Given the description of an element on the screen output the (x, y) to click on. 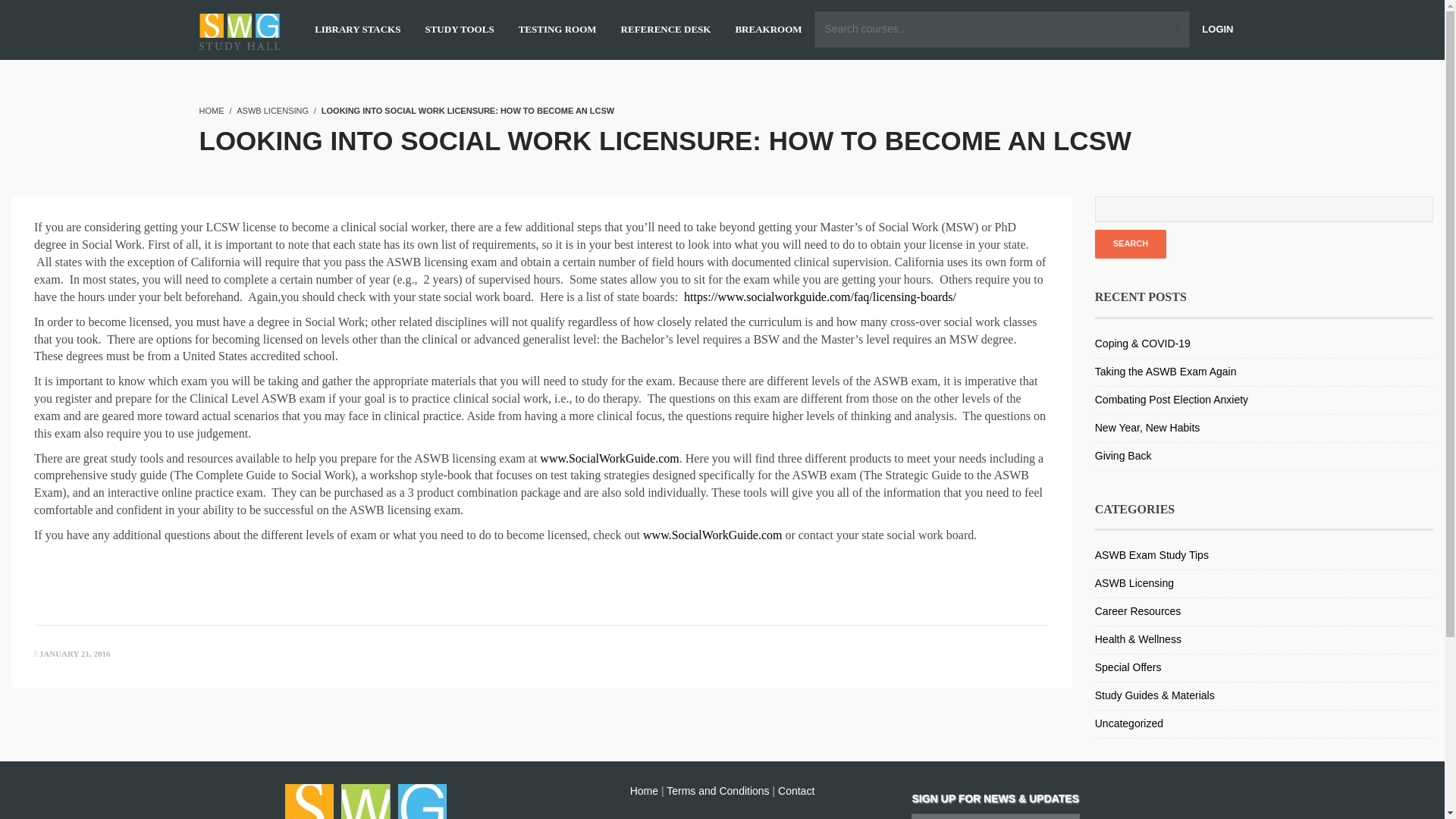
LIBRARY STACKS (357, 29)
BREAKROOM (768, 29)
Combating Post Election Anxiety (1170, 399)
REFERENCE DESK (665, 29)
Career Resources (1137, 611)
STUDY TOOLS (458, 29)
Taking the ASWB Exam Again (1165, 371)
www.SocialWorkGuide.com (712, 534)
Giving Back (1122, 455)
Search (1130, 244)
